Given the description of an element on the screen output the (x, y) to click on. 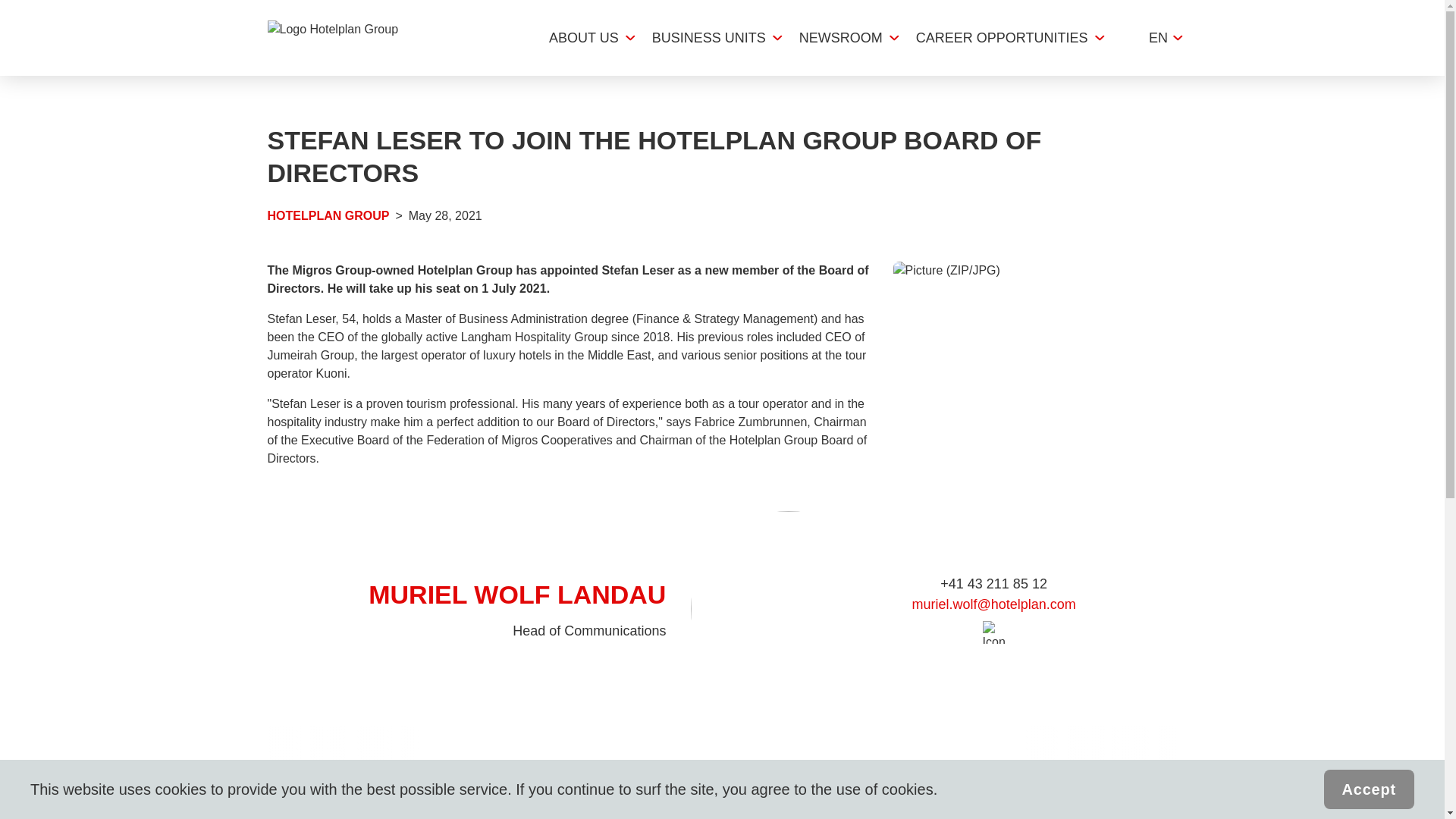
BUSINESS UNITS (708, 38)
CAREER OPPORTUNITIES (1001, 38)
ABOUT US (583, 38)
NEWSROOM (840, 38)
EN (1158, 38)
